Given the description of an element on the screen output the (x, y) to click on. 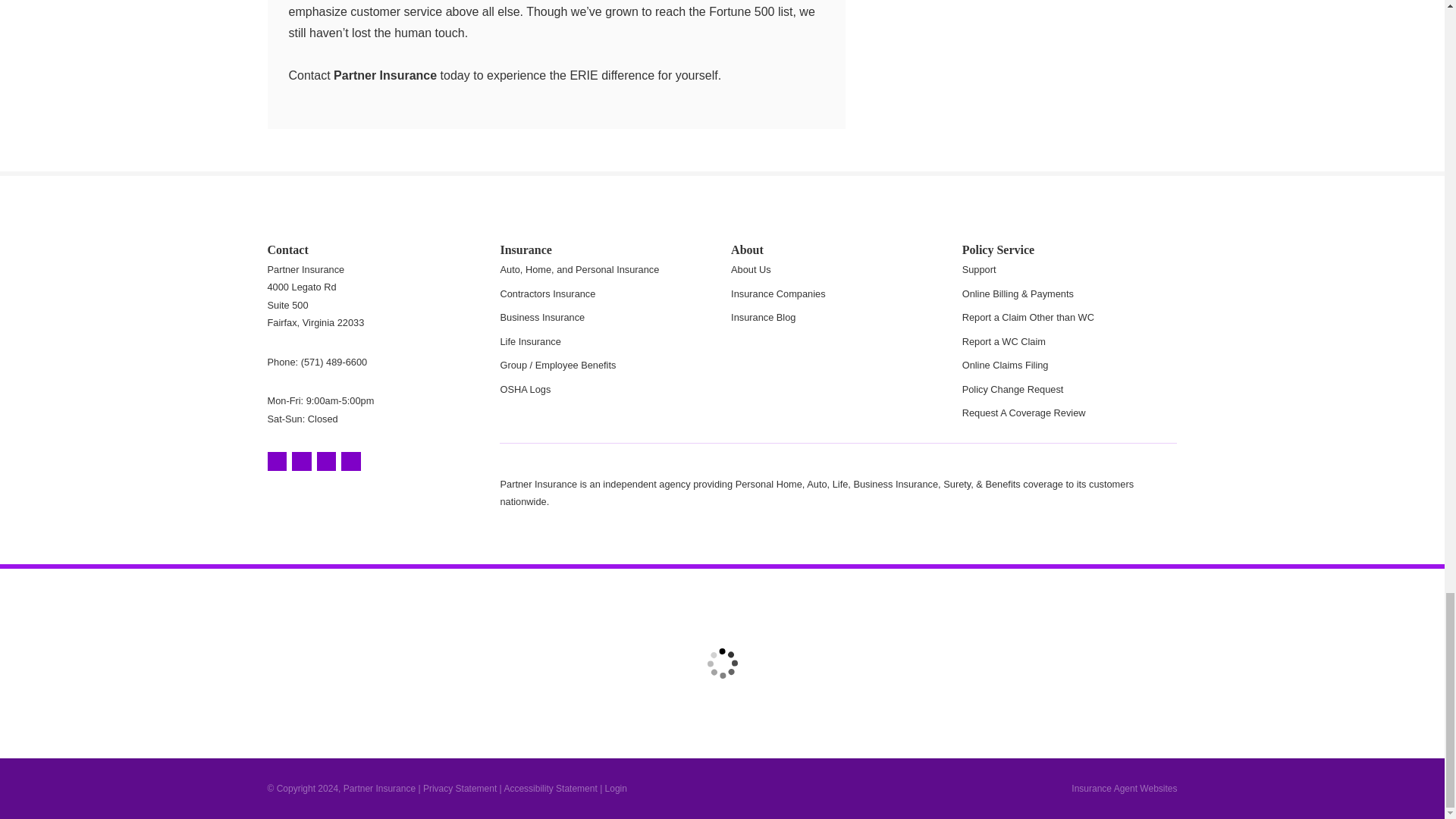
Google Maps (276, 461)
LinkedIn (350, 461)
Facebook (326, 461)
Yelp (301, 461)
